Given the description of an element on the screen output the (x, y) to click on. 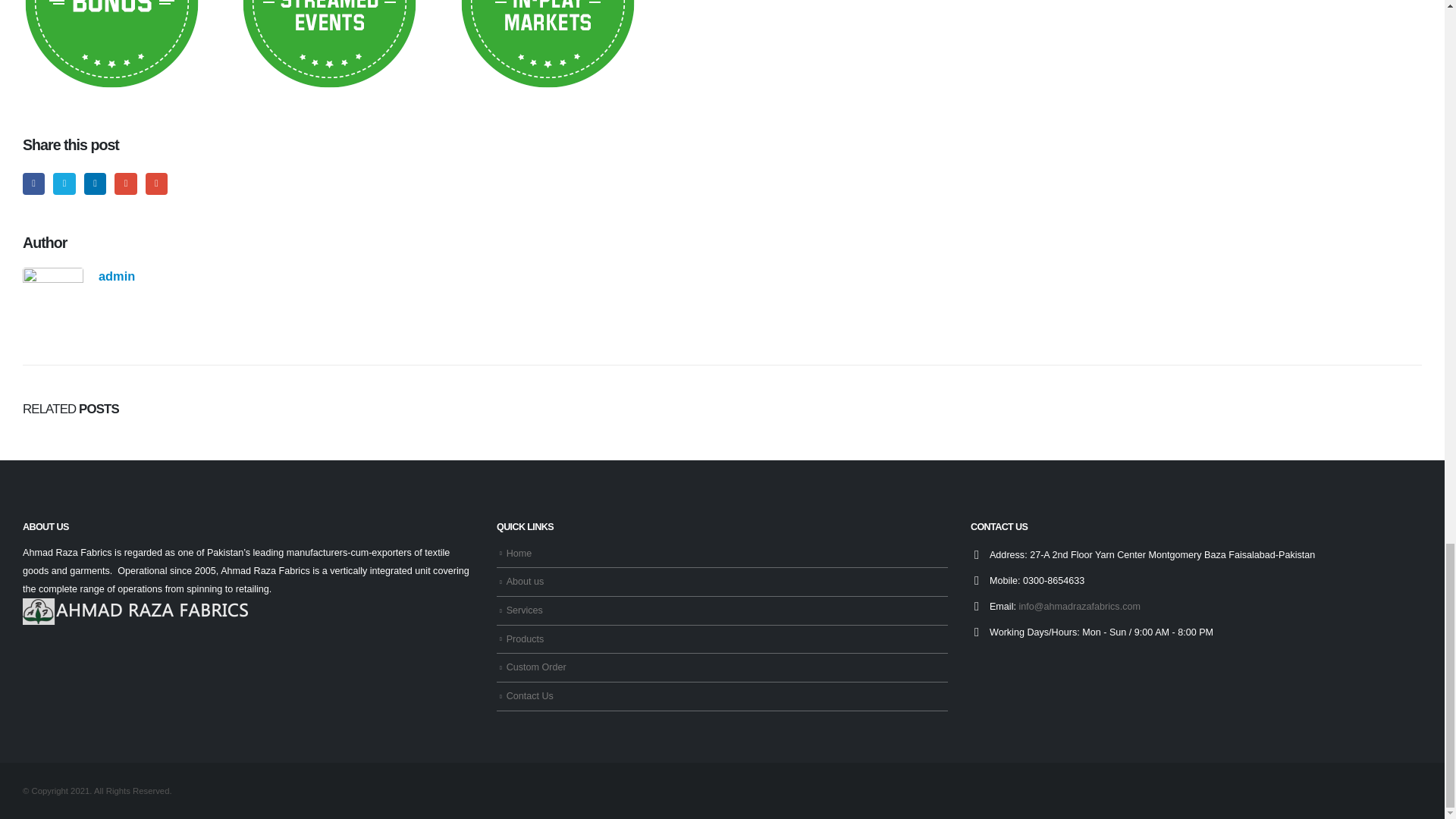
LinkedIn (95, 183)
Twitter (63, 183)
LinkedIn (95, 183)
Twitter (63, 183)
Email (156, 183)
admin (117, 275)
Email (156, 183)
Facebook (34, 183)
Posts by admin (117, 275)
Facebook (34, 183)
